Given the description of an element on the screen output the (x, y) to click on. 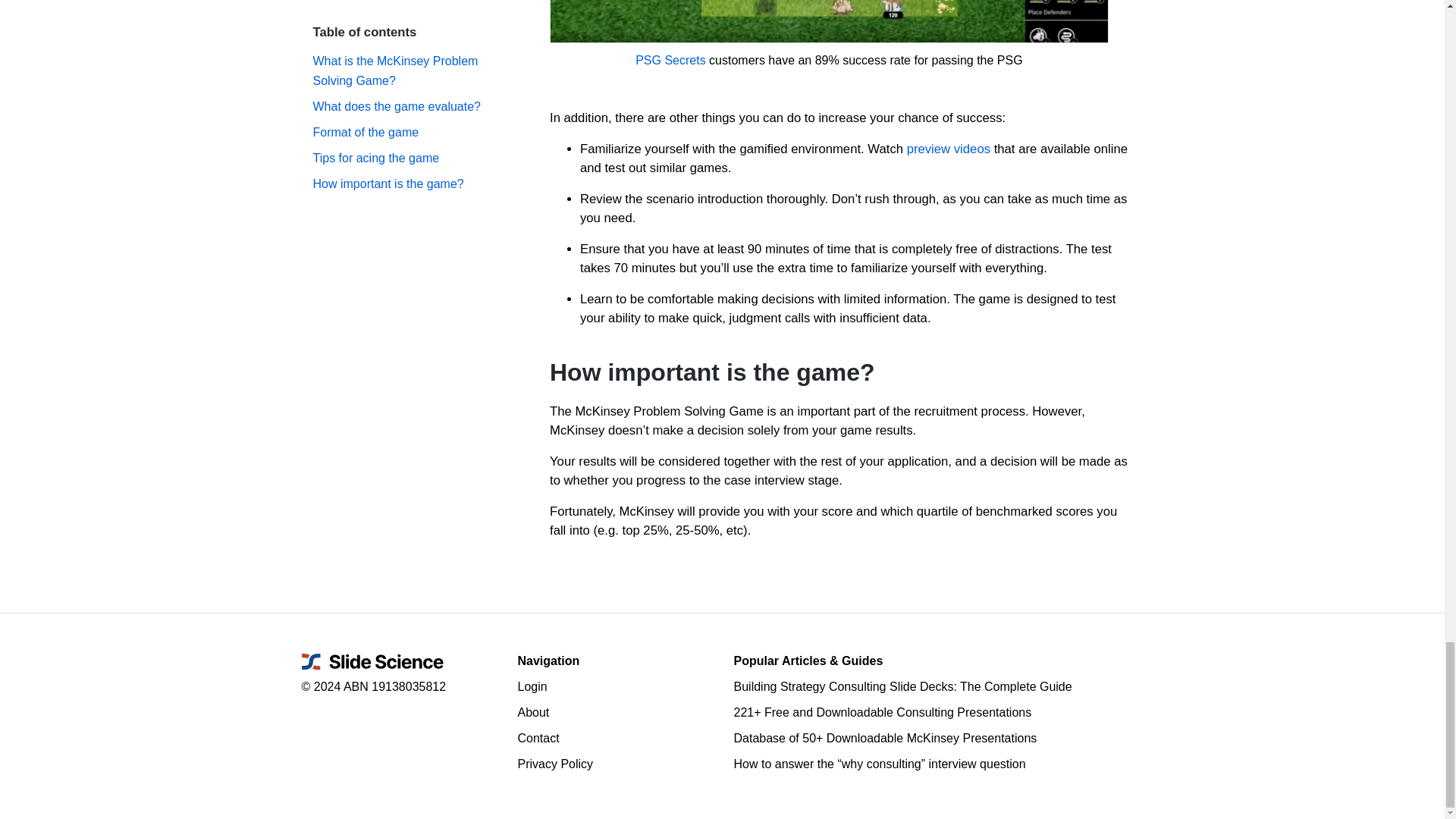
PSG Secrets (669, 60)
Contact (613, 738)
Building Strategy Consulting Slide Decks: The Complete Guide (937, 686)
preview videos (948, 148)
A Detailed Guide To The McKinsey Problem Solving Game (829, 22)
Privacy Policy (613, 763)
About (613, 712)
Login (613, 686)
